Given the description of an element on the screen output the (x, y) to click on. 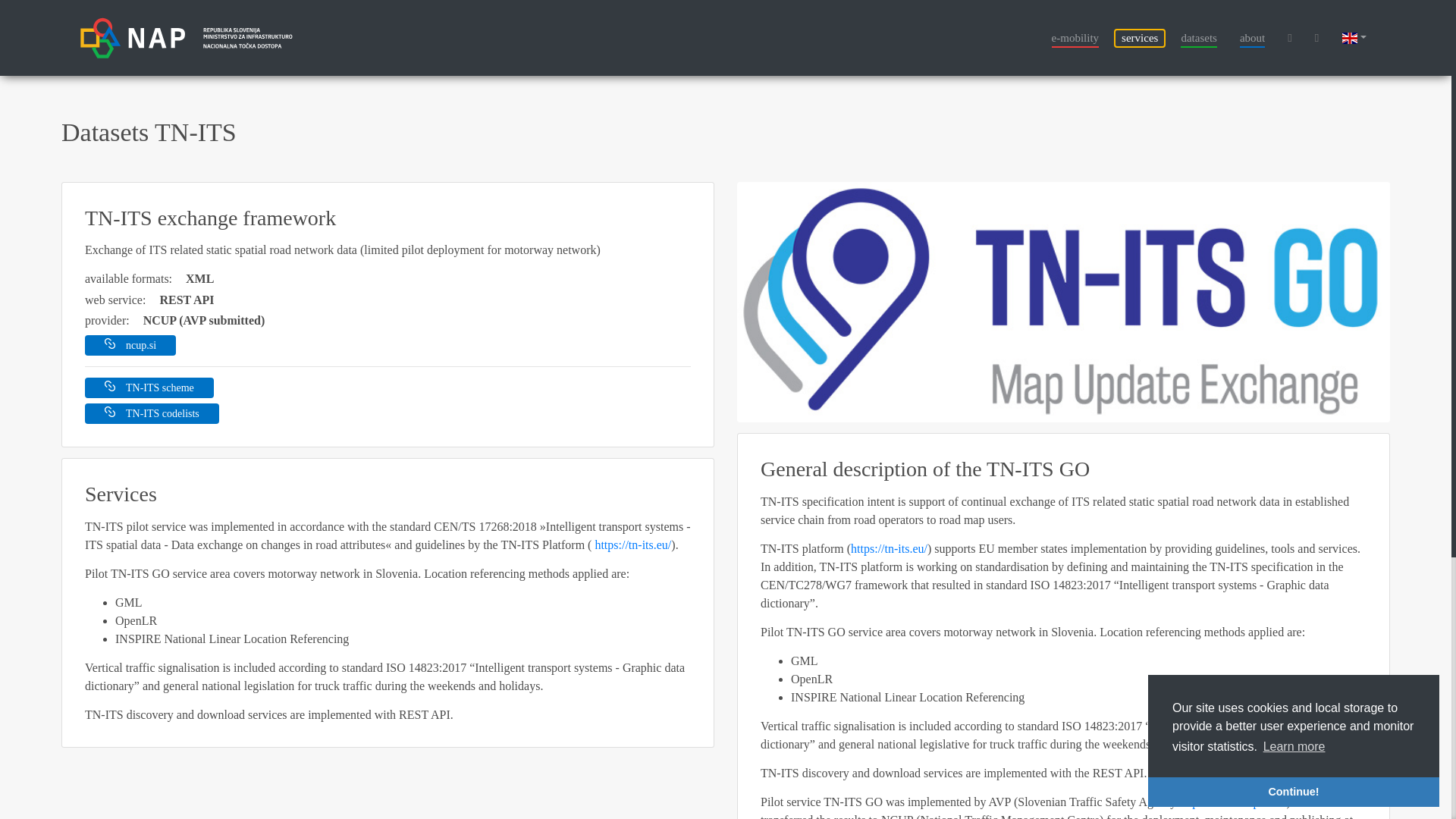
TN-ITS scheme (149, 387)
about (1252, 37)
services (1139, 37)
Continue! (1293, 791)
ncup.si (130, 344)
e-mobility (1075, 37)
TN-ITS codelists (151, 413)
datasets (1198, 37)
Learn more (1293, 746)
